Given the description of an element on the screen output the (x, y) to click on. 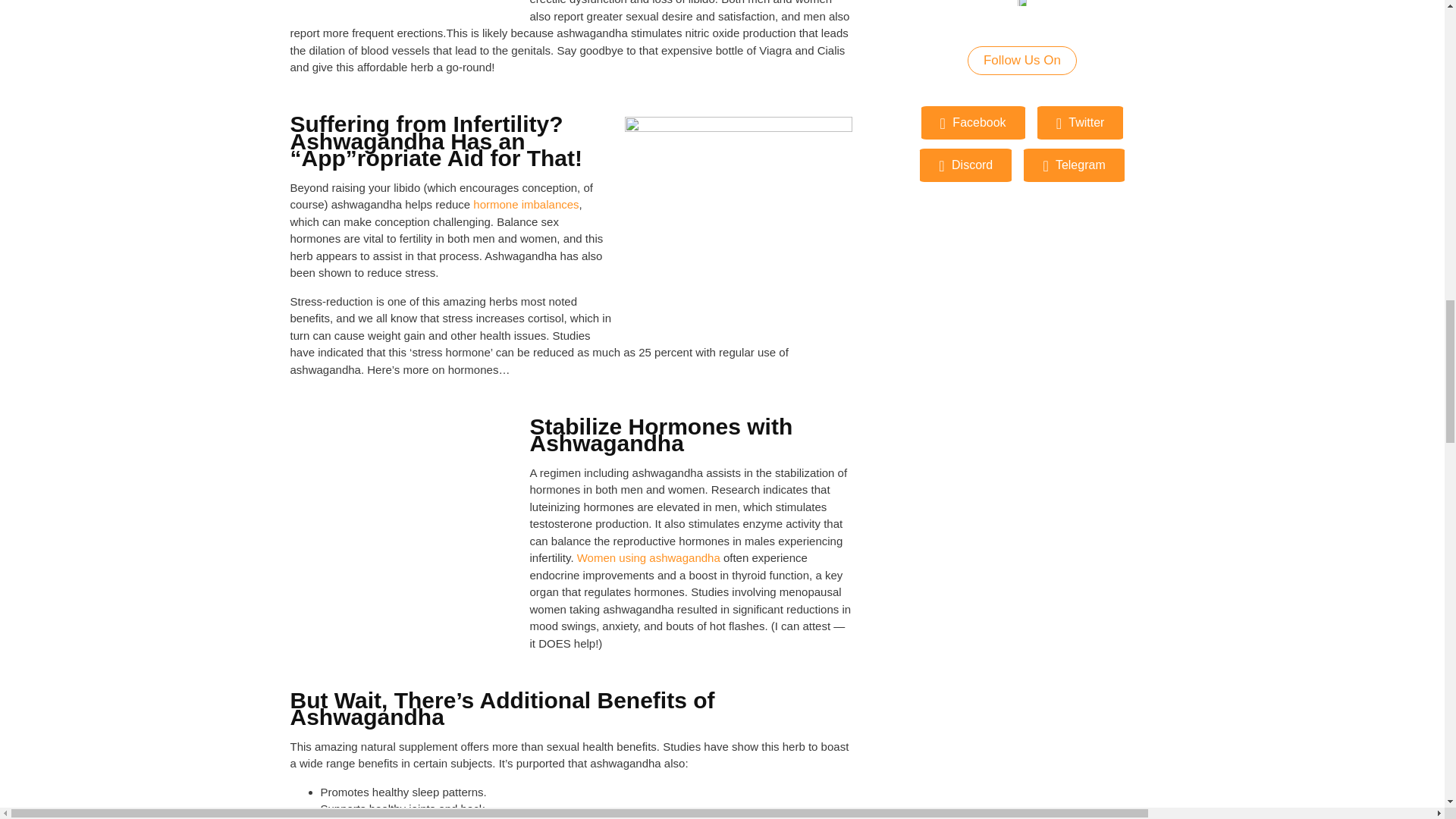
Women using ashwagandha (648, 557)
hormone imbalances (525, 204)
